Given the description of an element on the screen output the (x, y) to click on. 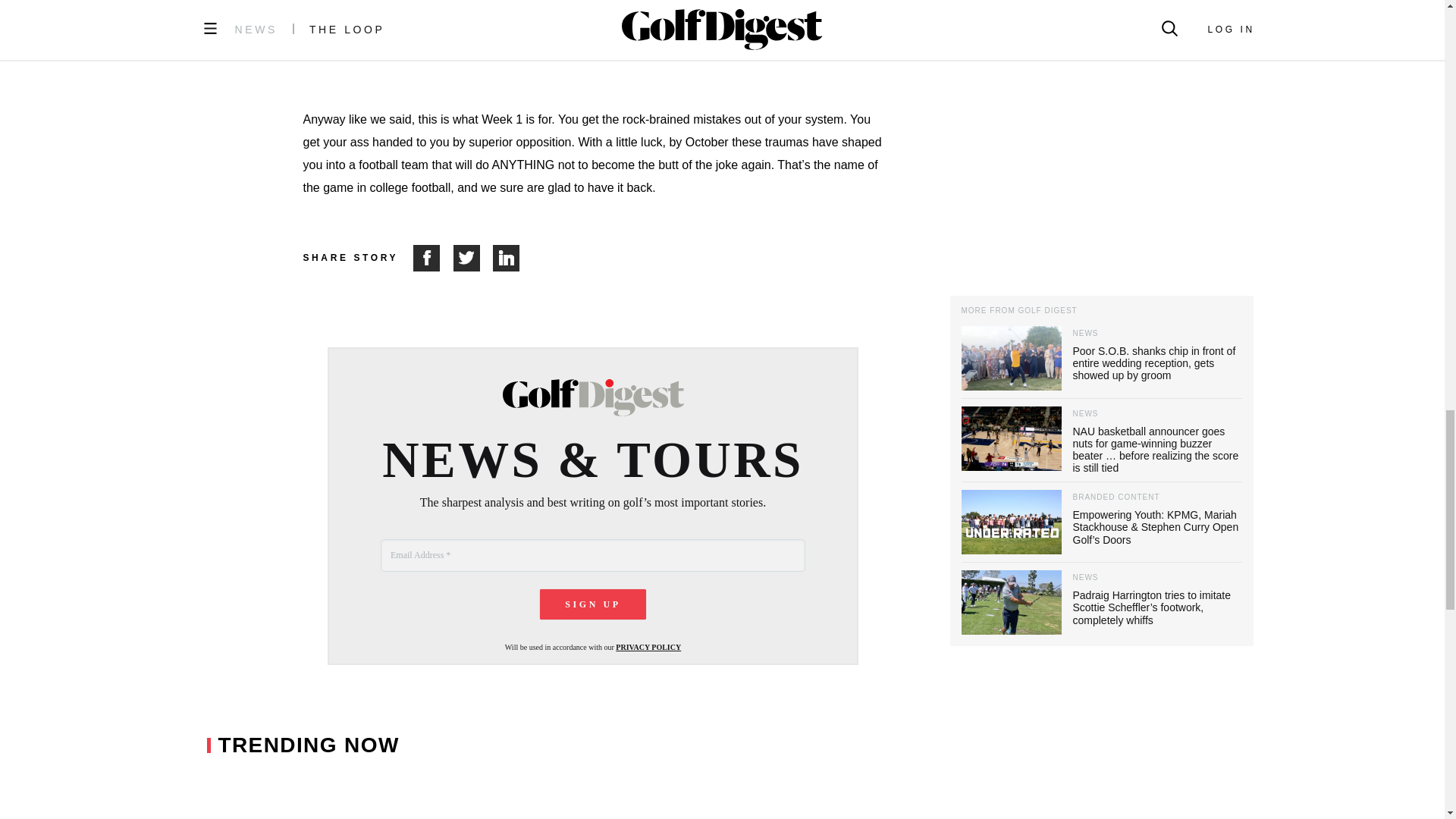
Sign up (593, 603)
